Given the description of an element on the screen output the (x, y) to click on. 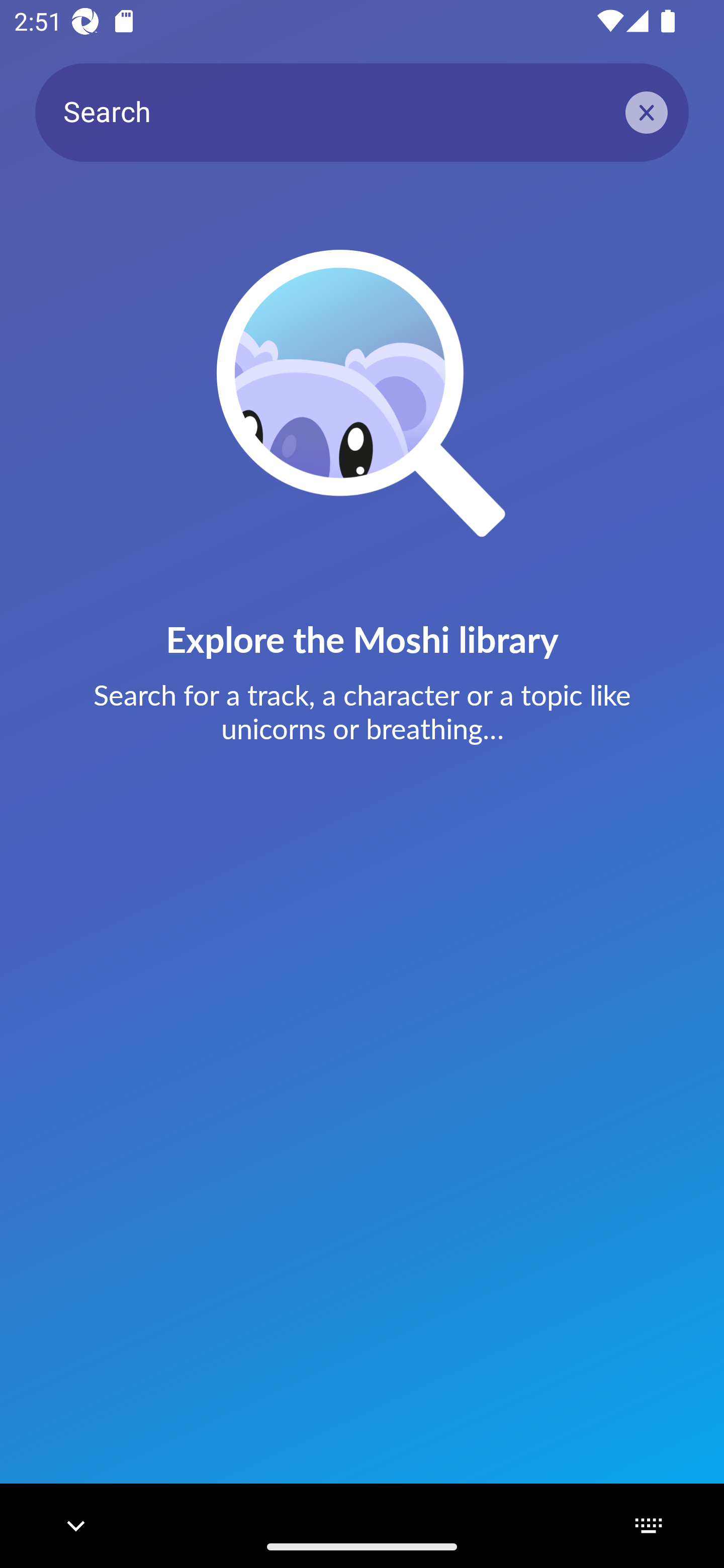
Search (361, 111)
